Given the description of an element on the screen output the (x, y) to click on. 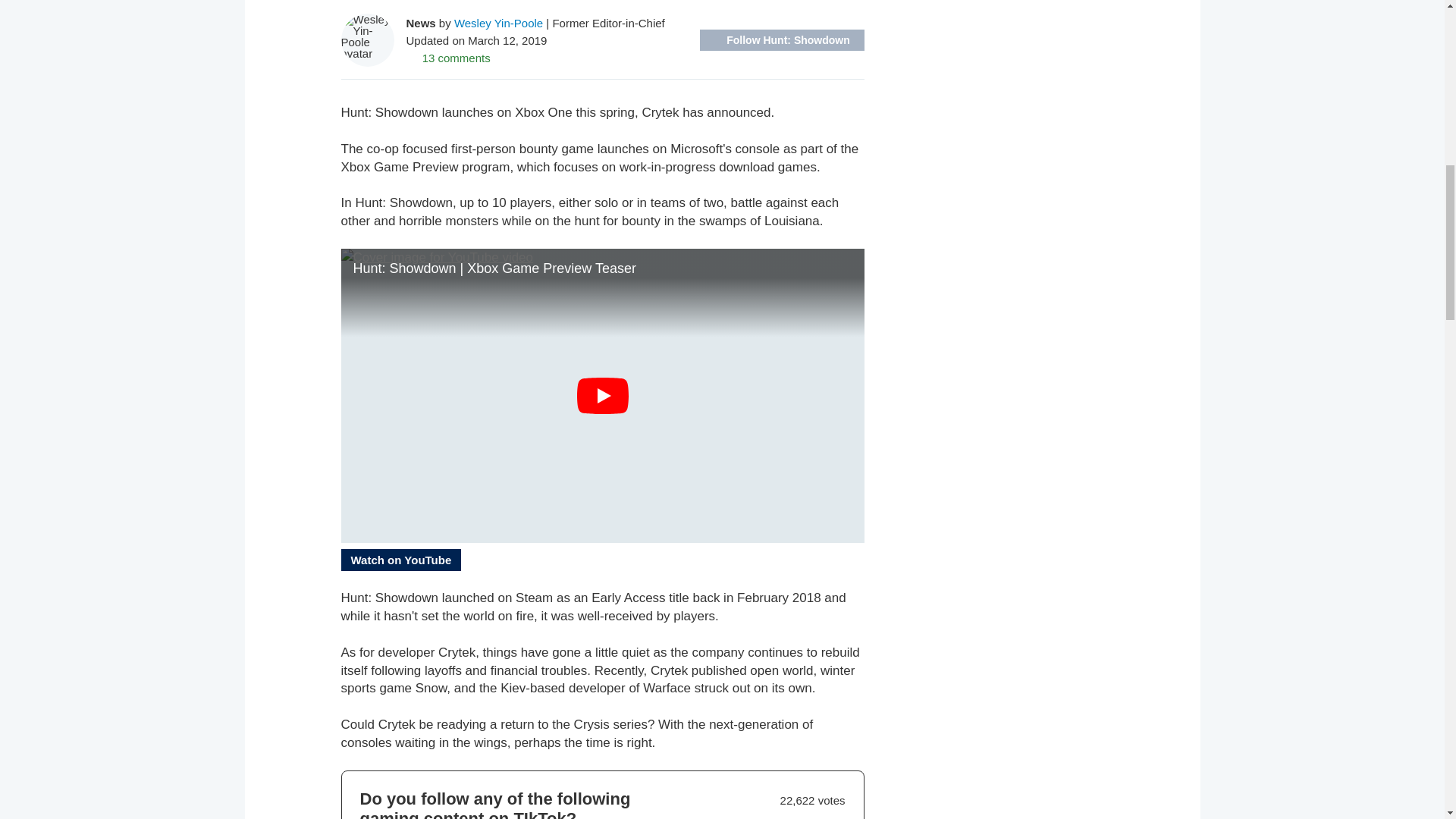
Watch on YouTube (400, 559)
Follow Hunt: Showdown (780, 39)
Wesley Yin-Poole (498, 22)
13 comments (448, 57)
